Given the description of an element on the screen output the (x, y) to click on. 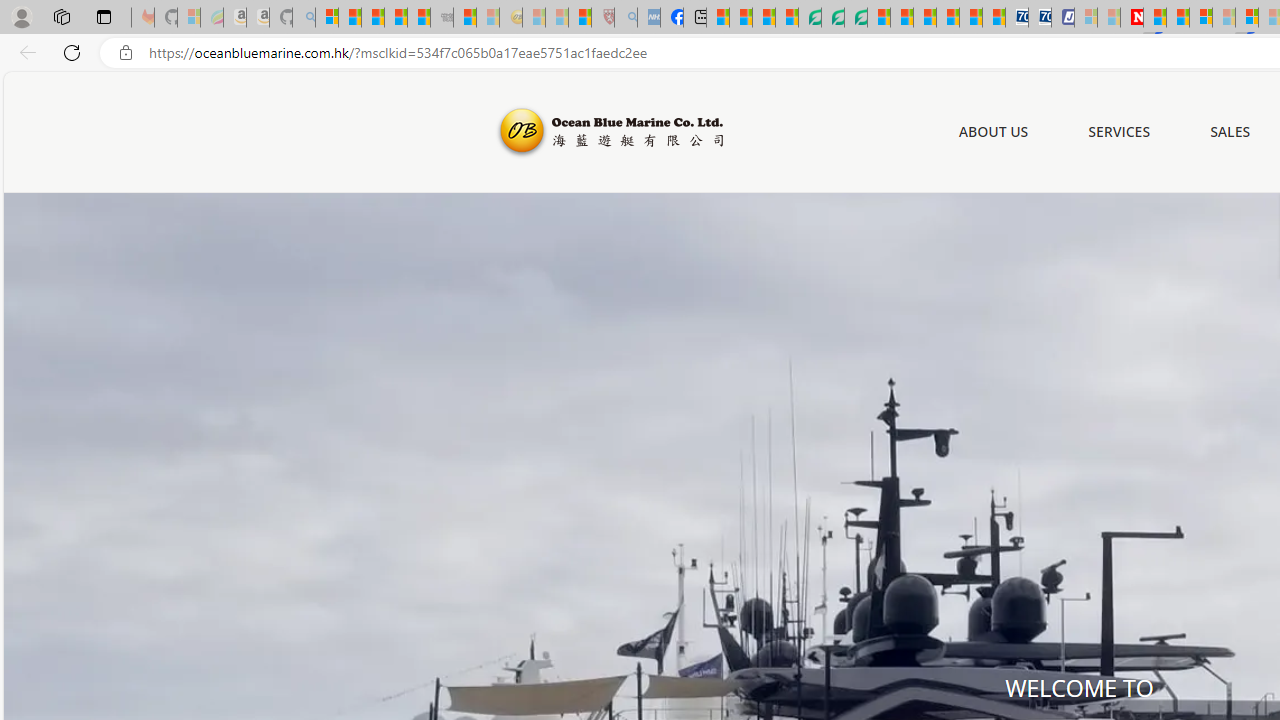
Robert H. Shmerling, MD - Harvard Health - Sleeping (602, 17)
Local - MSN (580, 17)
World - MSN (763, 17)
ABOUT US (993, 132)
Combat Siege (442, 17)
Ocean Blue Marine (608, 132)
Microsoft-Report a Concern to Bing - Sleeping (188, 17)
Microsoft Start - Sleeping (1108, 17)
